Given the description of an element on the screen output the (x, y) to click on. 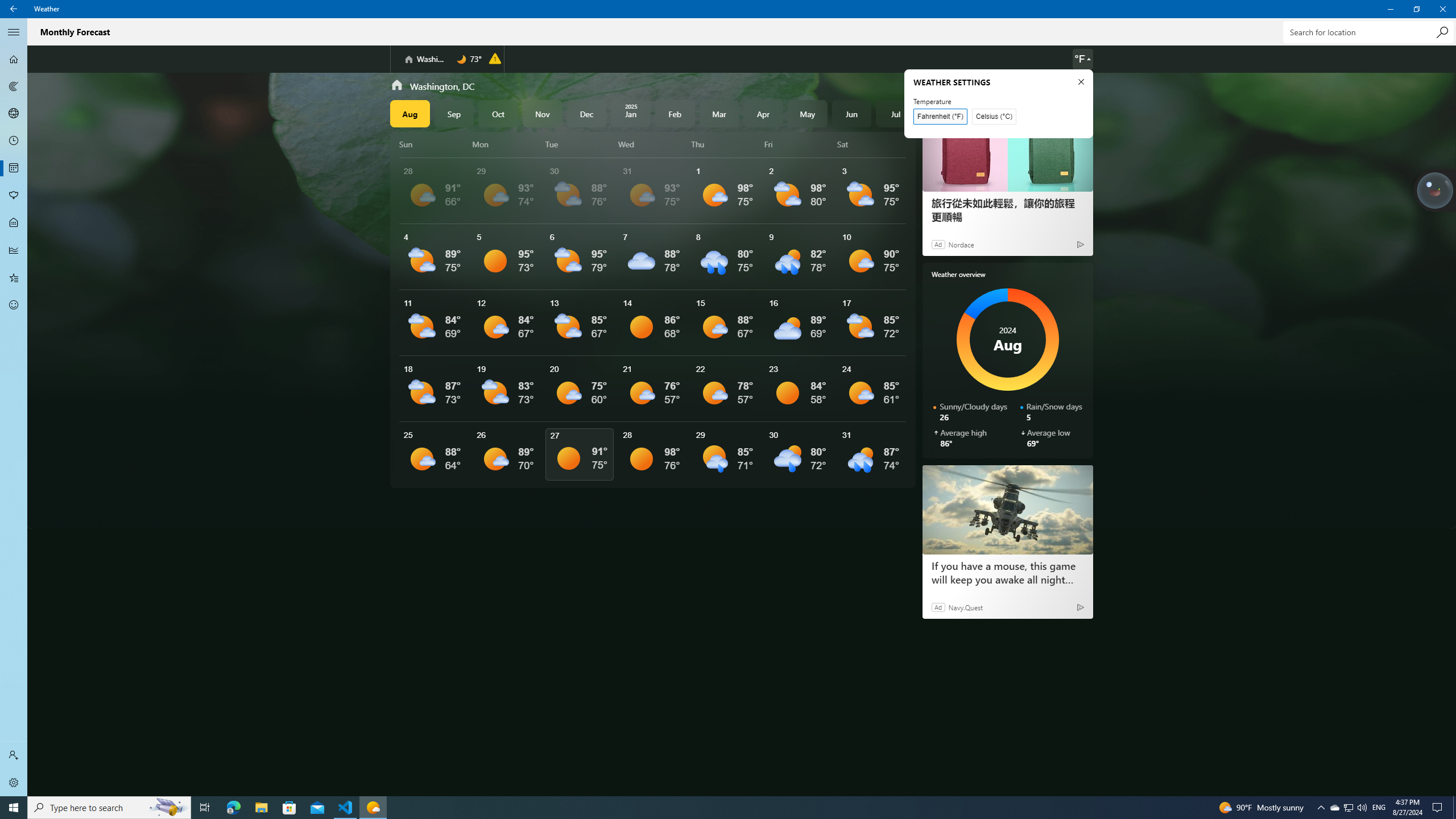
Historical Weather - Not Selected (13, 249)
Search for location (1367, 32)
Collapse Navigation (13, 31)
Sign in (13, 755)
Pollen - Not Selected (13, 195)
Send Feedback - Not Selected (13, 304)
Monthly Forecast - Not Selected (13, 167)
3D Maps - Not Selected (13, 113)
Close Weather (1442, 9)
Settings (13, 782)
Hourly Forecast - Not Selected (13, 140)
Restore Weather (1416, 9)
